Given the description of an element on the screen output the (x, y) to click on. 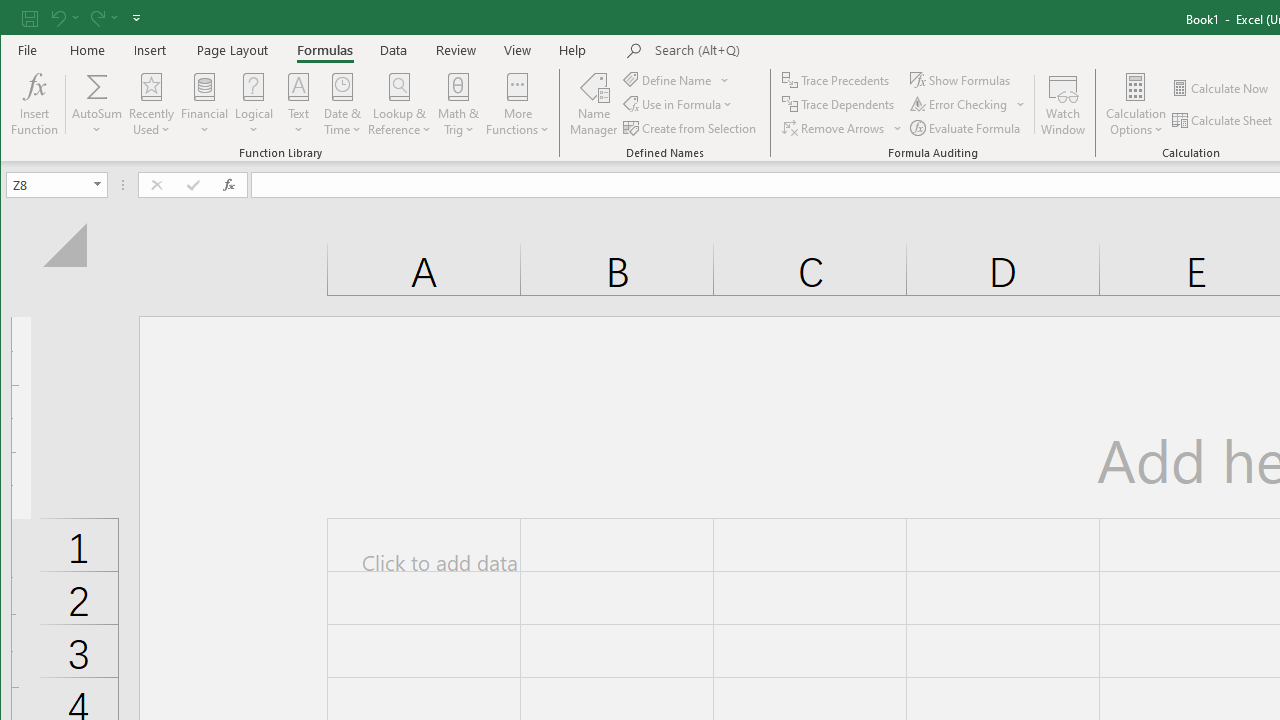
Recently Used (151, 104)
Watch Window (1063, 104)
Error Checking... (968, 103)
Math & Trig (459, 104)
Create from Selection... (690, 127)
Remove Arrows (843, 127)
Financial (204, 104)
Insert Function... (34, 104)
